Given the description of an element on the screen output the (x, y) to click on. 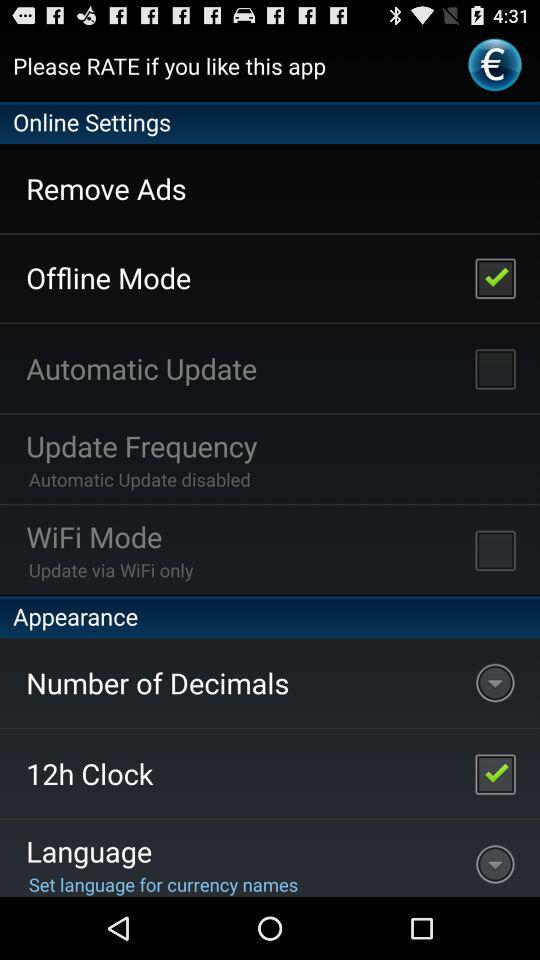
press app to the right of number of decimals item (495, 773)
